Given the description of an element on the screen output the (x, y) to click on. 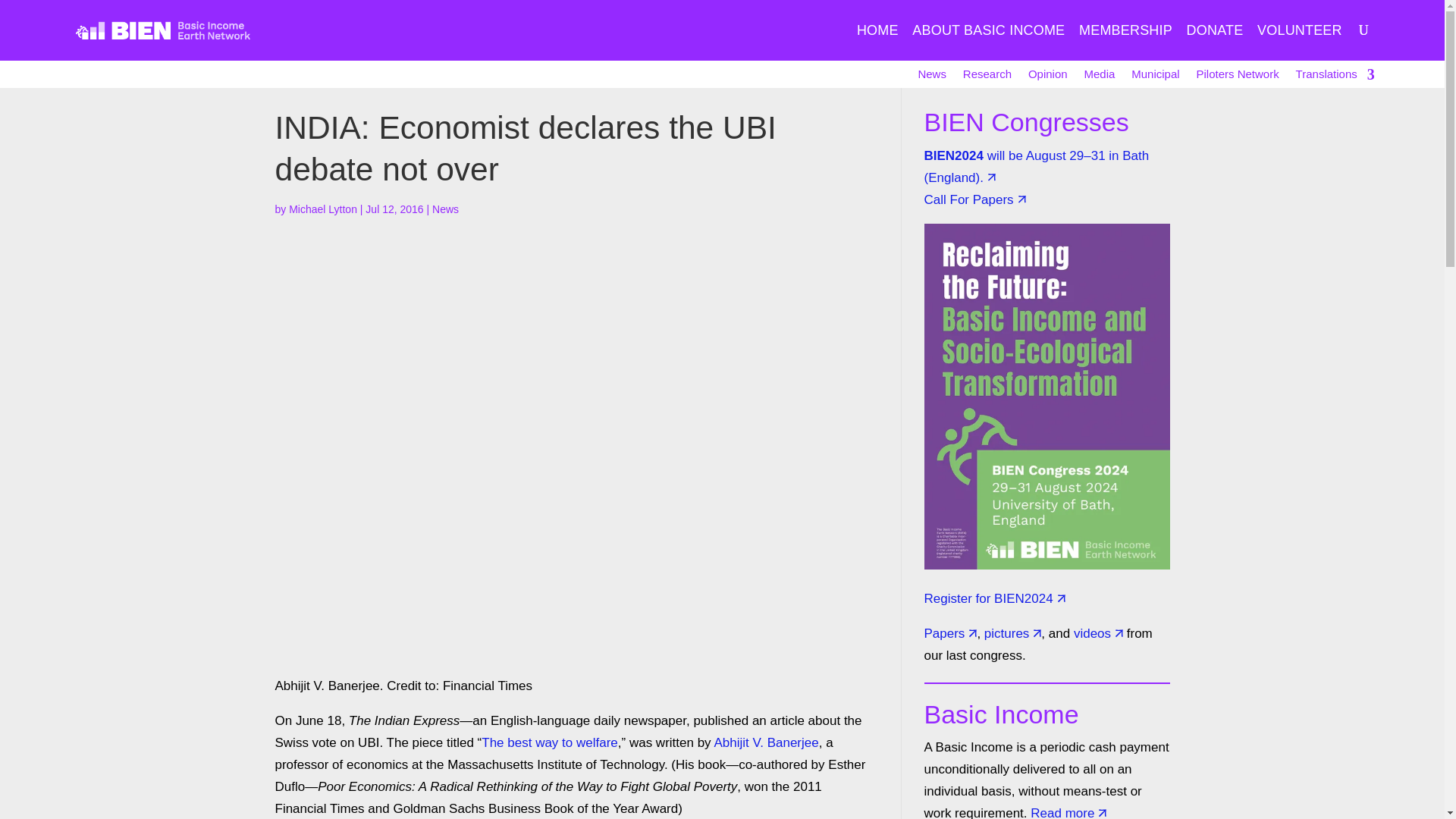
MEMBERSHIP (1125, 42)
HOME (877, 42)
Media (1099, 76)
Call For Papers (968, 199)
Papers (943, 633)
Piloters Network (1237, 76)
Municipal (1155, 76)
News (445, 209)
Posts by Michael Lytton (322, 209)
Translations (1334, 76)
